Given the description of an element on the screen output the (x, y) to click on. 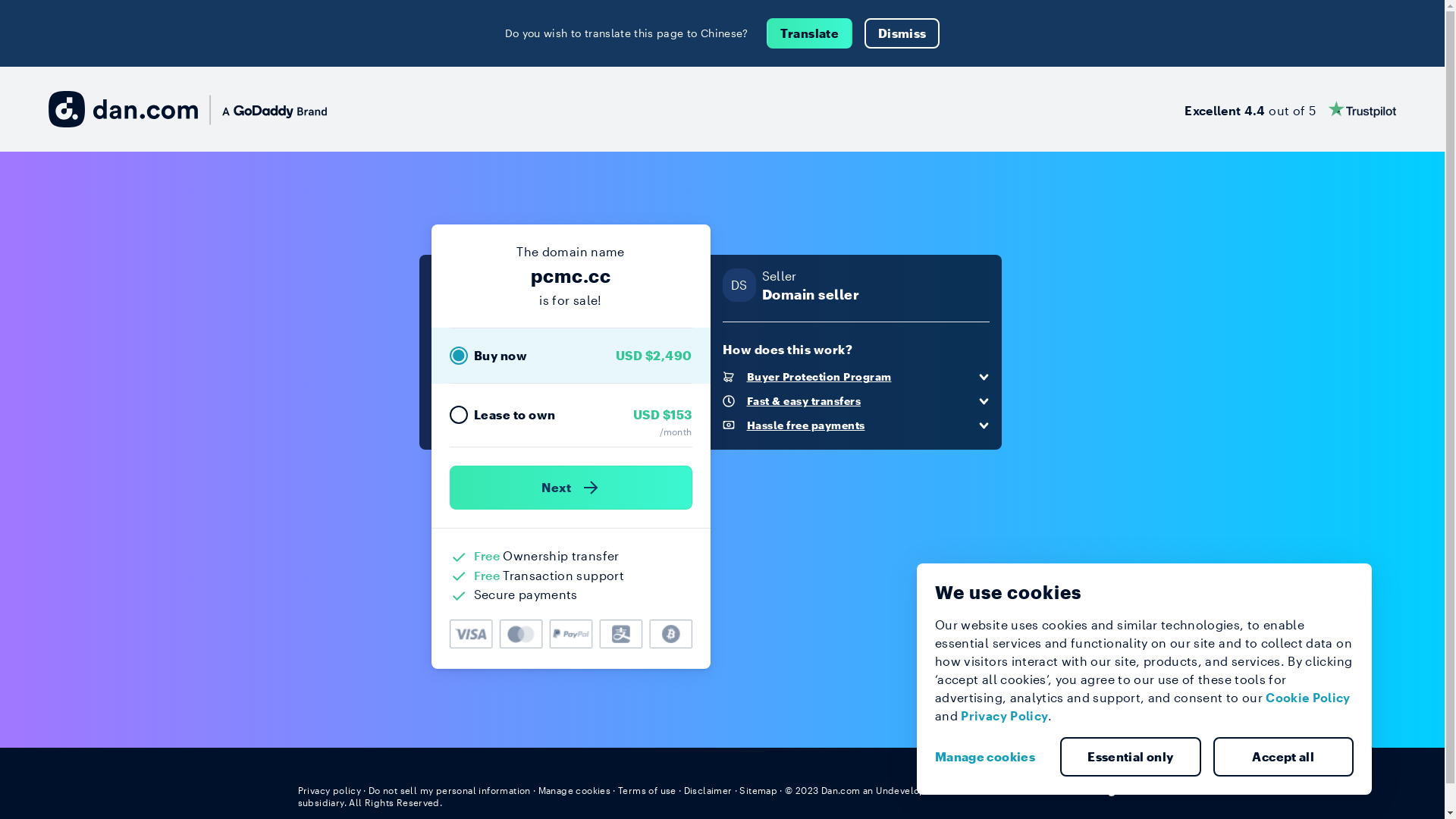
Do not sell my personal information Element type: text (449, 789)
Manage cookies Element type: text (991, 756)
Manage cookies Element type: text (574, 790)
Sitemap Element type: text (758, 789)
Translate Element type: text (809, 33)
Disclaimer Element type: text (708, 789)
Privacy policy Element type: text (328, 789)
Accept all Element type: text (1283, 756)
Privacy Policy Element type: text (1004, 715)
Terms of use Element type: text (647, 789)
Next
) Element type: text (569, 487)
Excellent 4.4 out of 5 Element type: text (1290, 109)
Dismiss Element type: text (901, 33)
Cookie Policy Element type: text (1307, 697)
English Element type: text (1119, 789)
Essential only Element type: text (1130, 756)
